Given the description of an element on the screen output the (x, y) to click on. 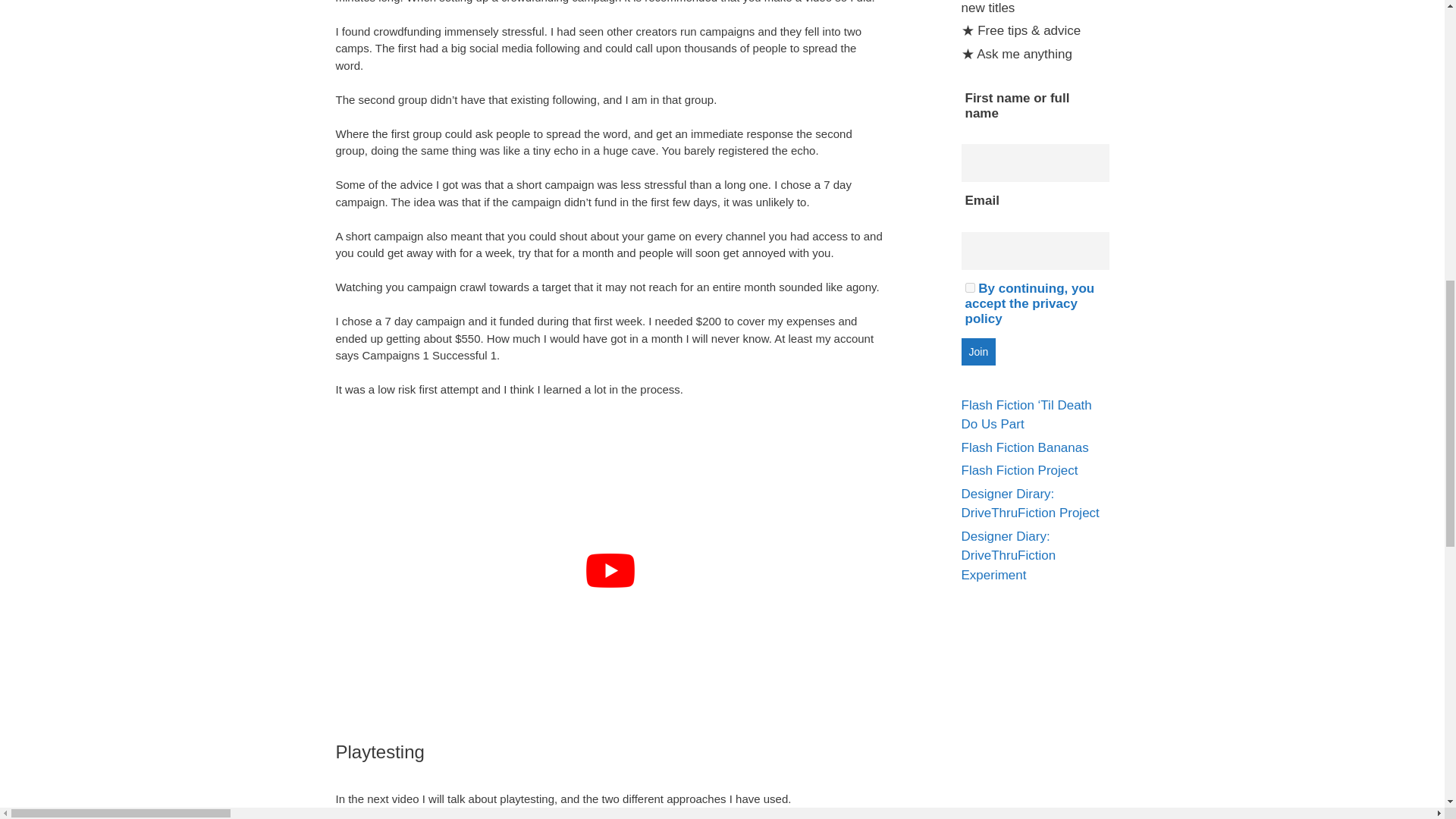
Flash Fiction Bananas (1024, 447)
Flash Fiction Project (1019, 470)
Join (977, 351)
Designer Diary: DriveThruFiction Experiment (1008, 555)
on (968, 287)
By continuing, you accept the privacy policy (1028, 303)
Designer Dirary: DriveThruFiction Project (1029, 503)
Join (977, 351)
